Given the description of an element on the screen output the (x, y) to click on. 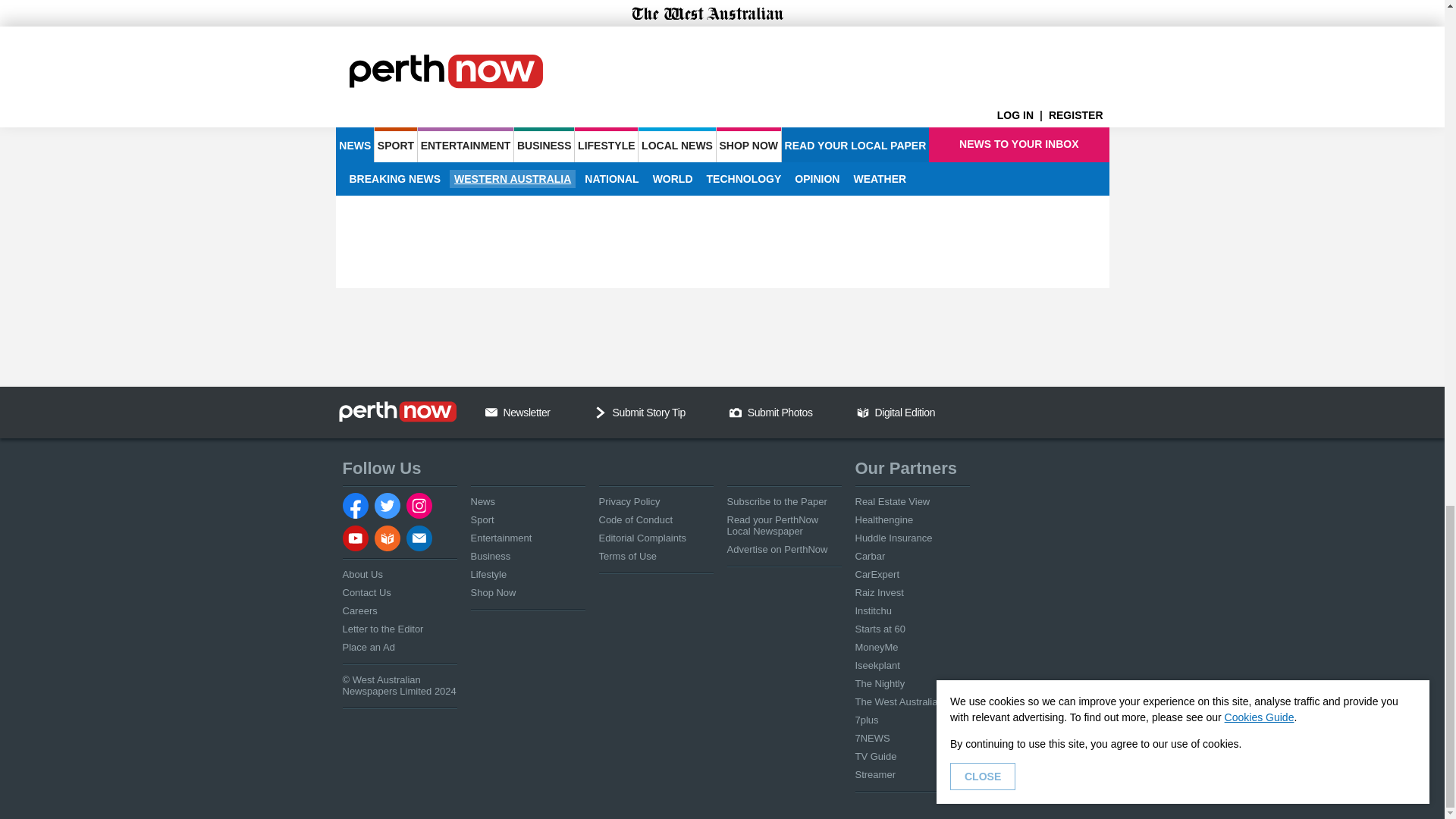
Chevron Down Icon (600, 412)
Camera Icon (735, 412)
Email Us (490, 412)
Get Digital Edition (863, 412)
